Given the description of an element on the screen output the (x, y) to click on. 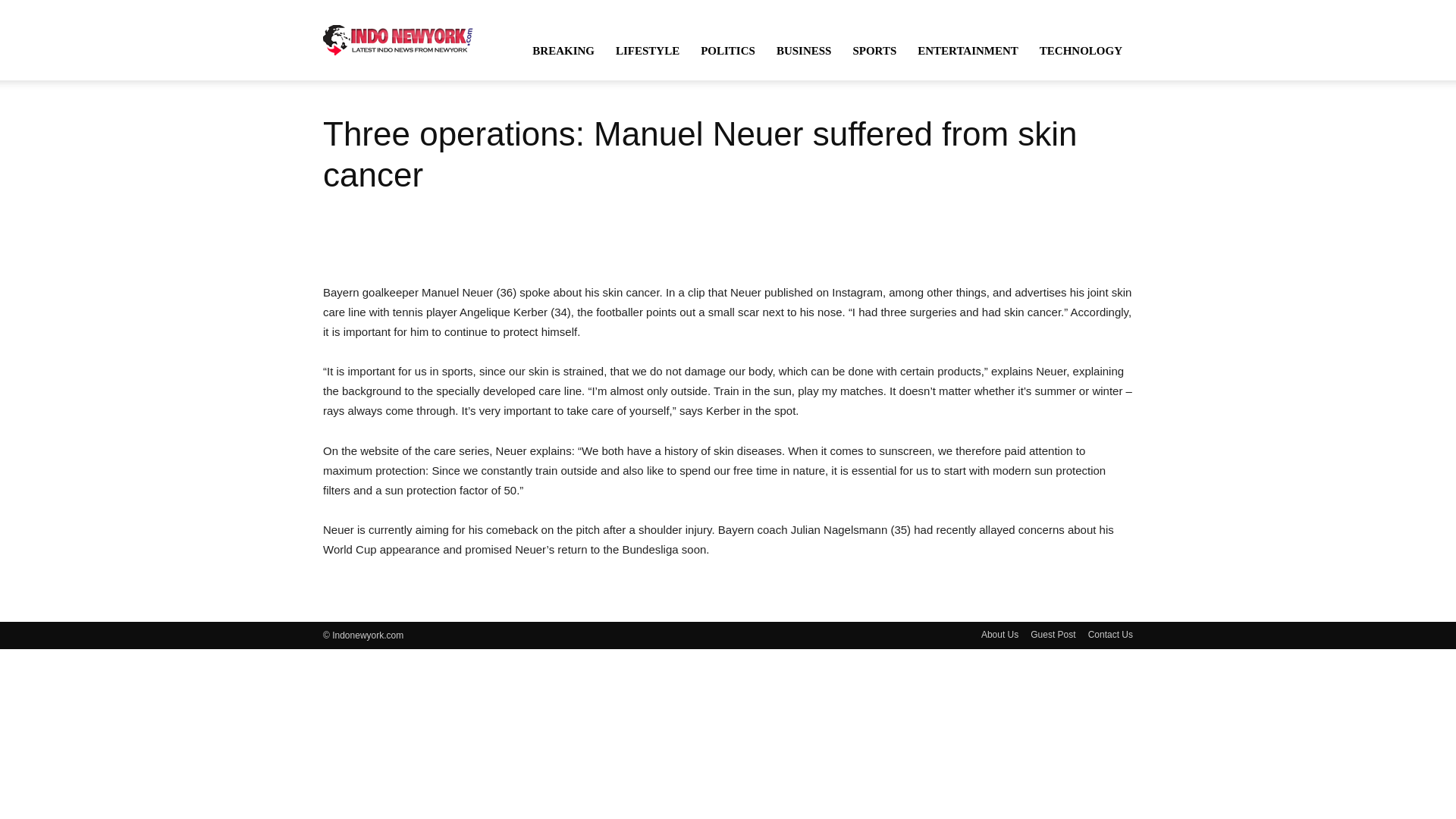
About Us (999, 634)
POLITICS (727, 50)
Contact Us (1109, 634)
BREAKING (563, 50)
BUSINESS (804, 50)
Indo Newyork (398, 39)
Guest Post (1052, 634)
ENTERTAINMENT (968, 50)
SPORTS (874, 50)
TECHNOLOGY (1080, 50)
LIFESTYLE (647, 50)
